Given the description of an element on the screen output the (x, y) to click on. 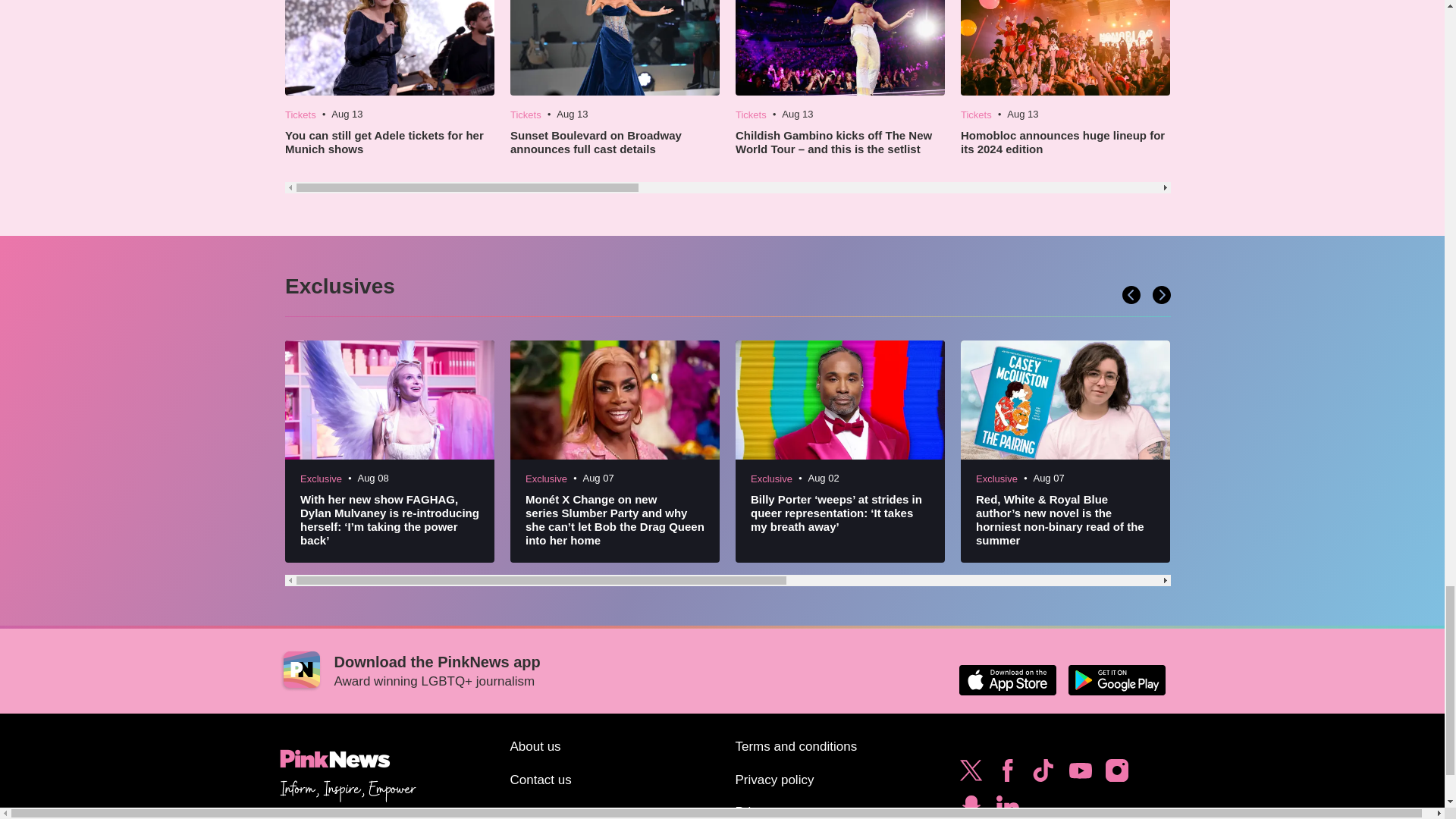
Follow PinkNews on Twitter (970, 773)
Follow PinkNews on Instagram (1116, 773)
Subscribe to PinkNews on Snapchat (970, 805)
Follow PinkNews on TikTok (1042, 773)
Follow PinkNews on LinkedIn (1007, 805)
Download the PinkNews app on the Apple App Store (1006, 680)
Download the PinkNews app on Google Play (1115, 680)
Subscribe to PinkNews on YouTube (1079, 773)
